Given the description of an element on the screen output the (x, y) to click on. 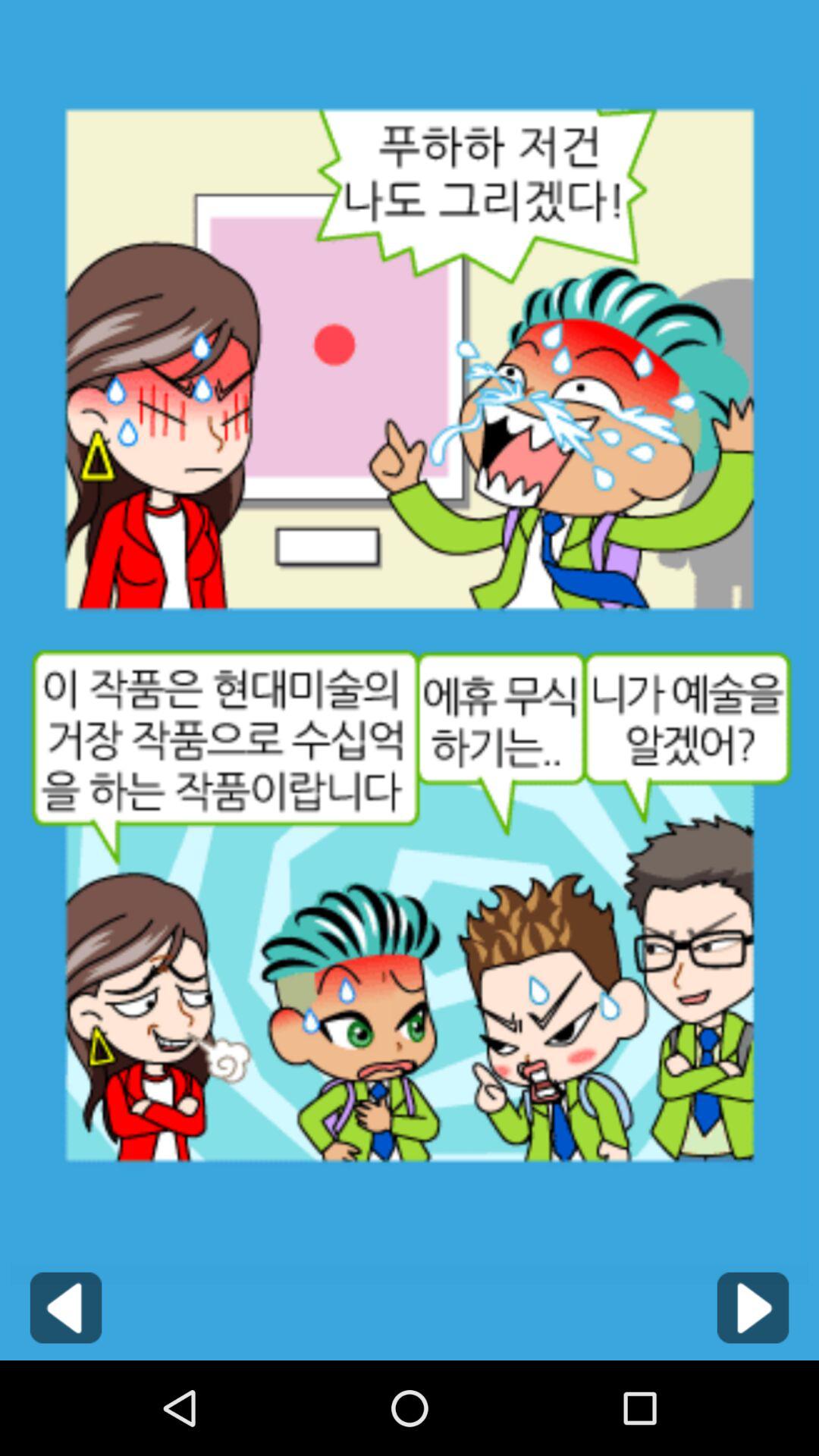
next (752, 1307)
